Given the description of an element on the screen output the (x, y) to click on. 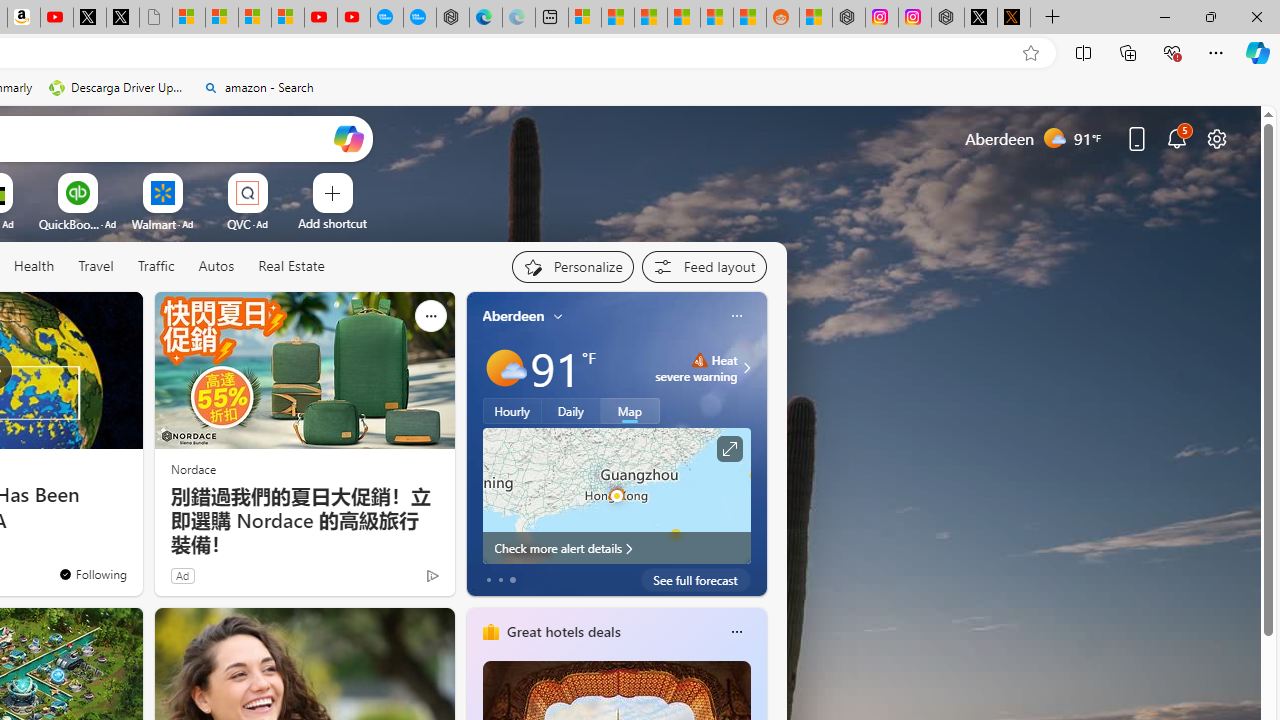
Descarga Driver Updater (118, 88)
Real Estate (291, 265)
hotels-header-icon (490, 632)
Class: icon-img (736, 632)
Map (630, 411)
Travel (95, 267)
Personalize your feed" (571, 266)
You're following The Weather Channel (92, 573)
Shanghai, China Weather trends | Microsoft Weather (749, 17)
